Given the description of an element on the screen output the (x, y) to click on. 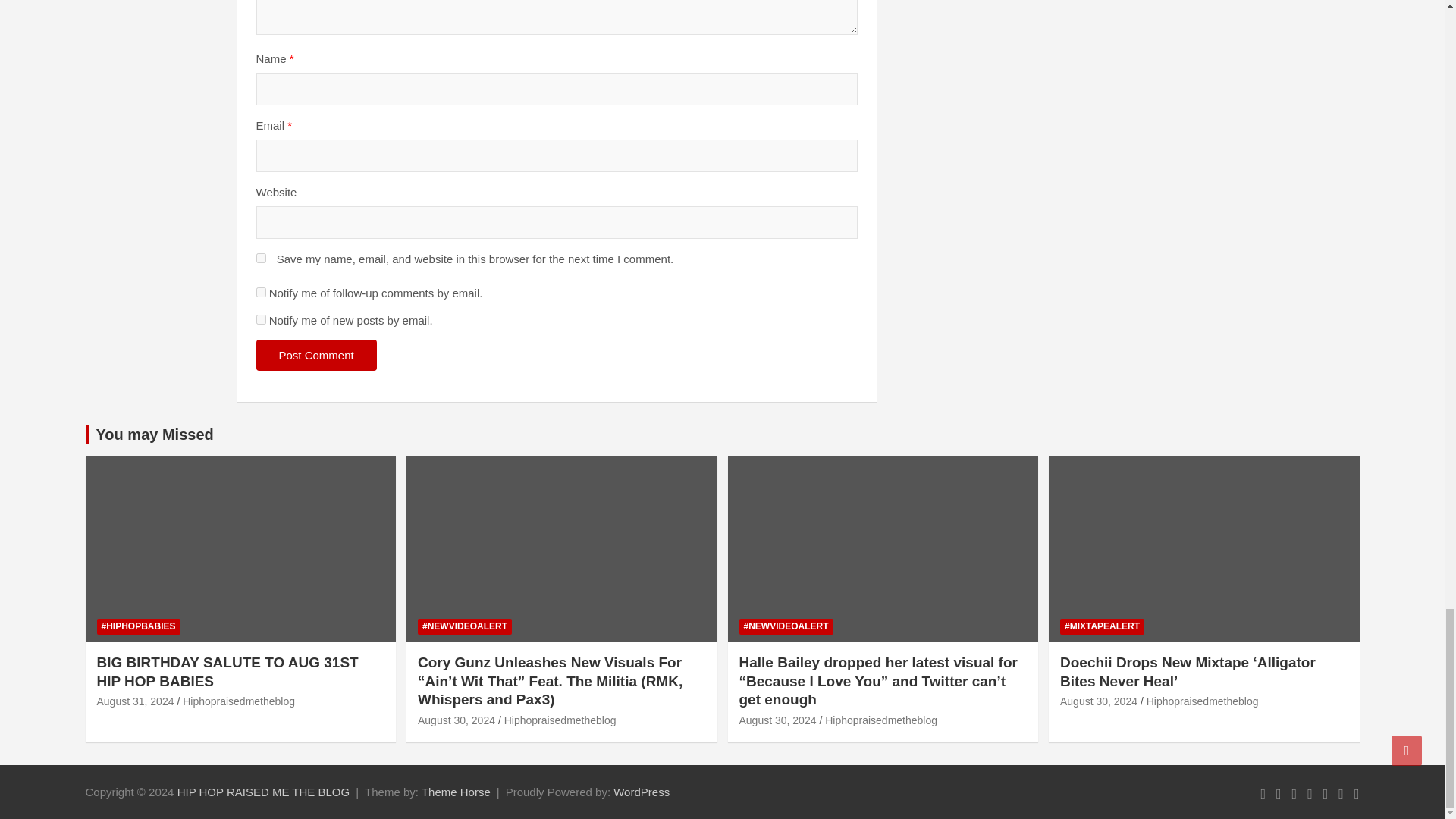
subscribe (261, 292)
Post Comment (316, 355)
subscribe (261, 319)
BIG BIRTHDAY SALUTE TO AUG 31ST HIP HOP BABIES (135, 701)
yes (261, 257)
